Given the description of an element on the screen output the (x, y) to click on. 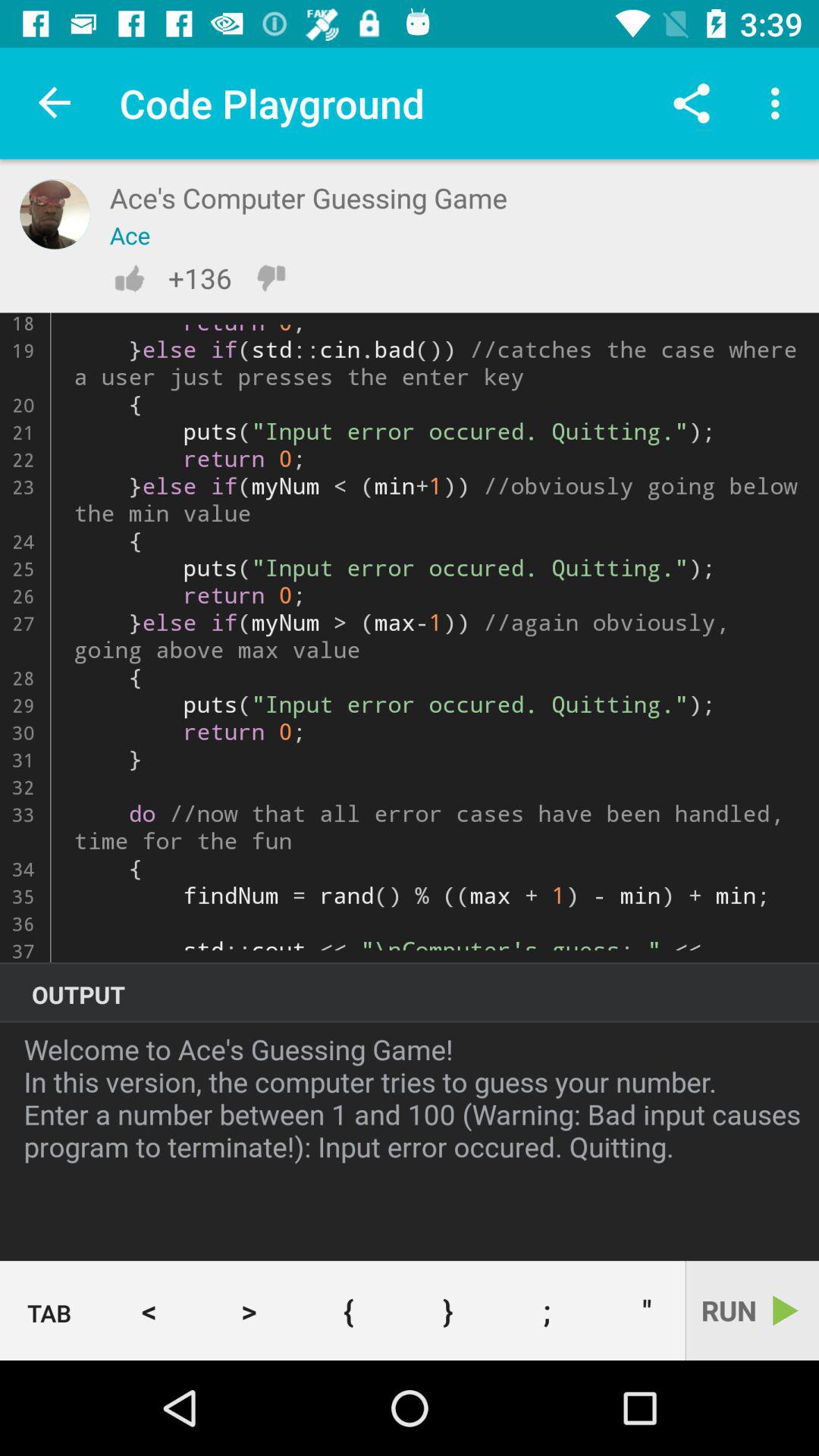
jump to the < item (149, 1310)
